Given the description of an element on the screen output the (x, y) to click on. 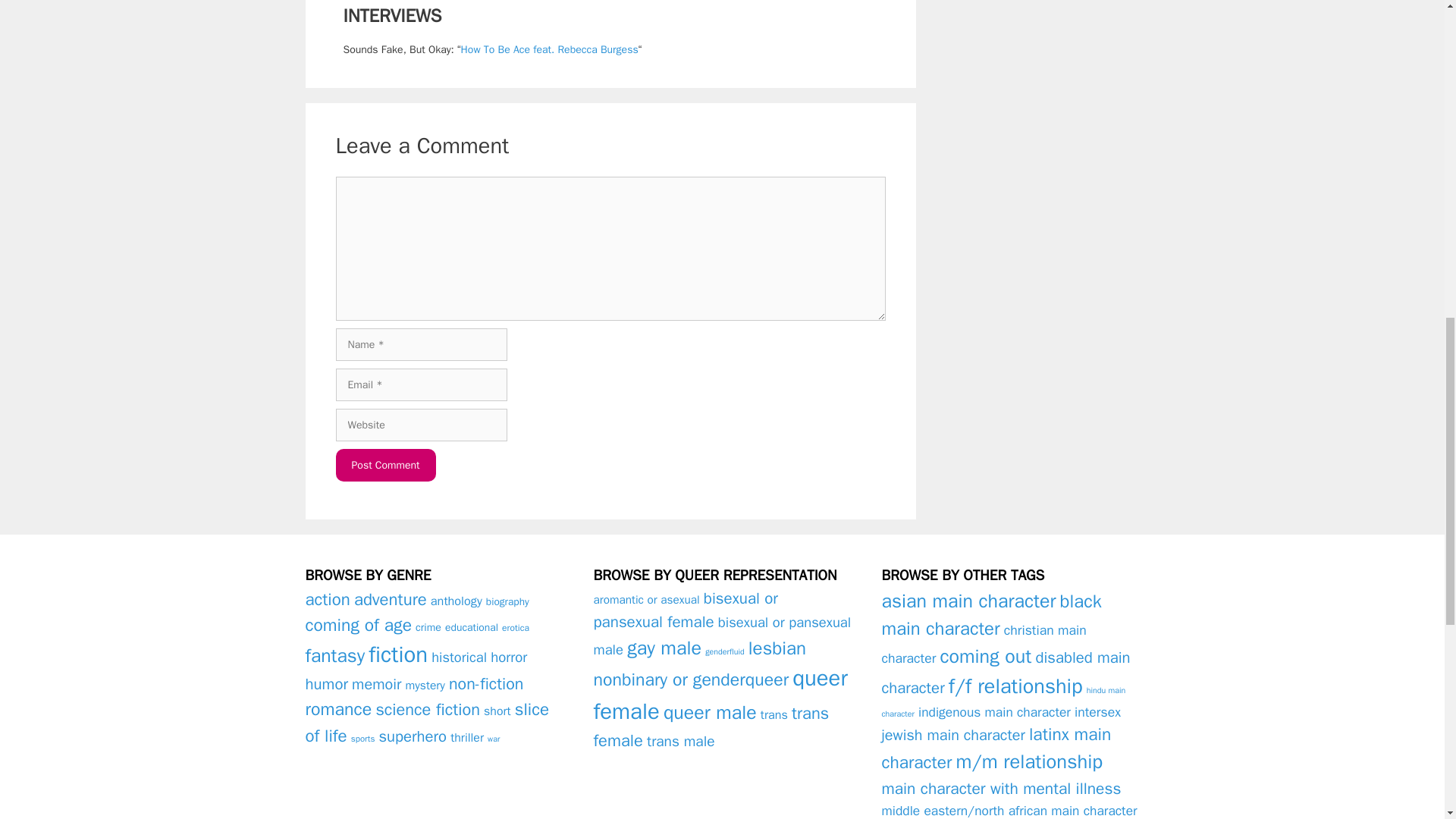
adventure (389, 599)
action (326, 599)
Post Comment (384, 464)
Scroll back to top (1406, 720)
How To Be Ace feat. Rebecca Burgess (550, 49)
Post Comment (384, 464)
